Given the description of an element on the screen output the (x, y) to click on. 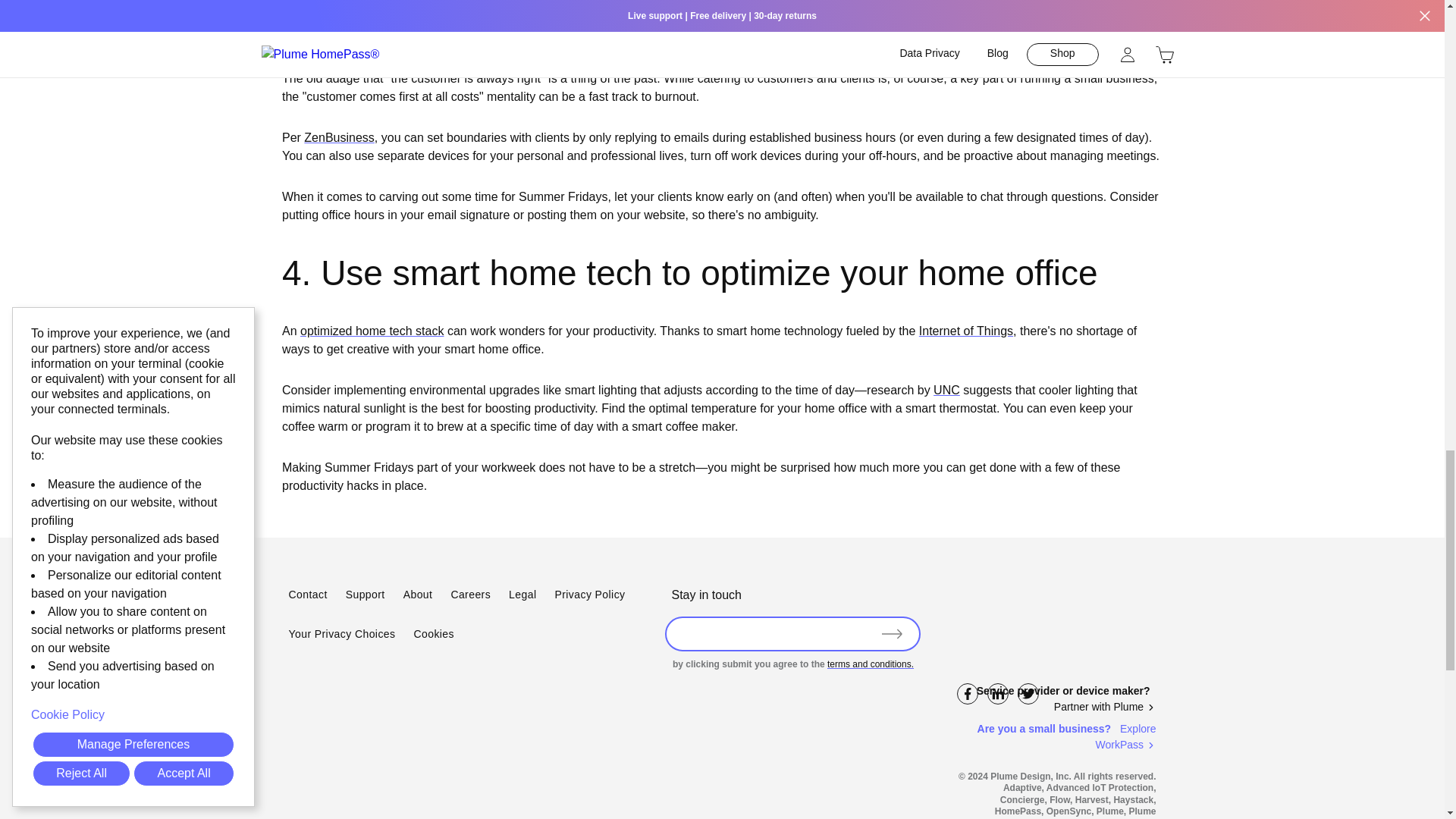
UNC (946, 390)
Contact (307, 595)
Internet of Things (965, 330)
optimized home tech stack (371, 330)
About (417, 595)
Privacy Policy (589, 595)
Support (365, 595)
ZenBusiness (339, 137)
Careers (469, 595)
Legal (521, 595)
